Given the description of an element on the screen output the (x, y) to click on. 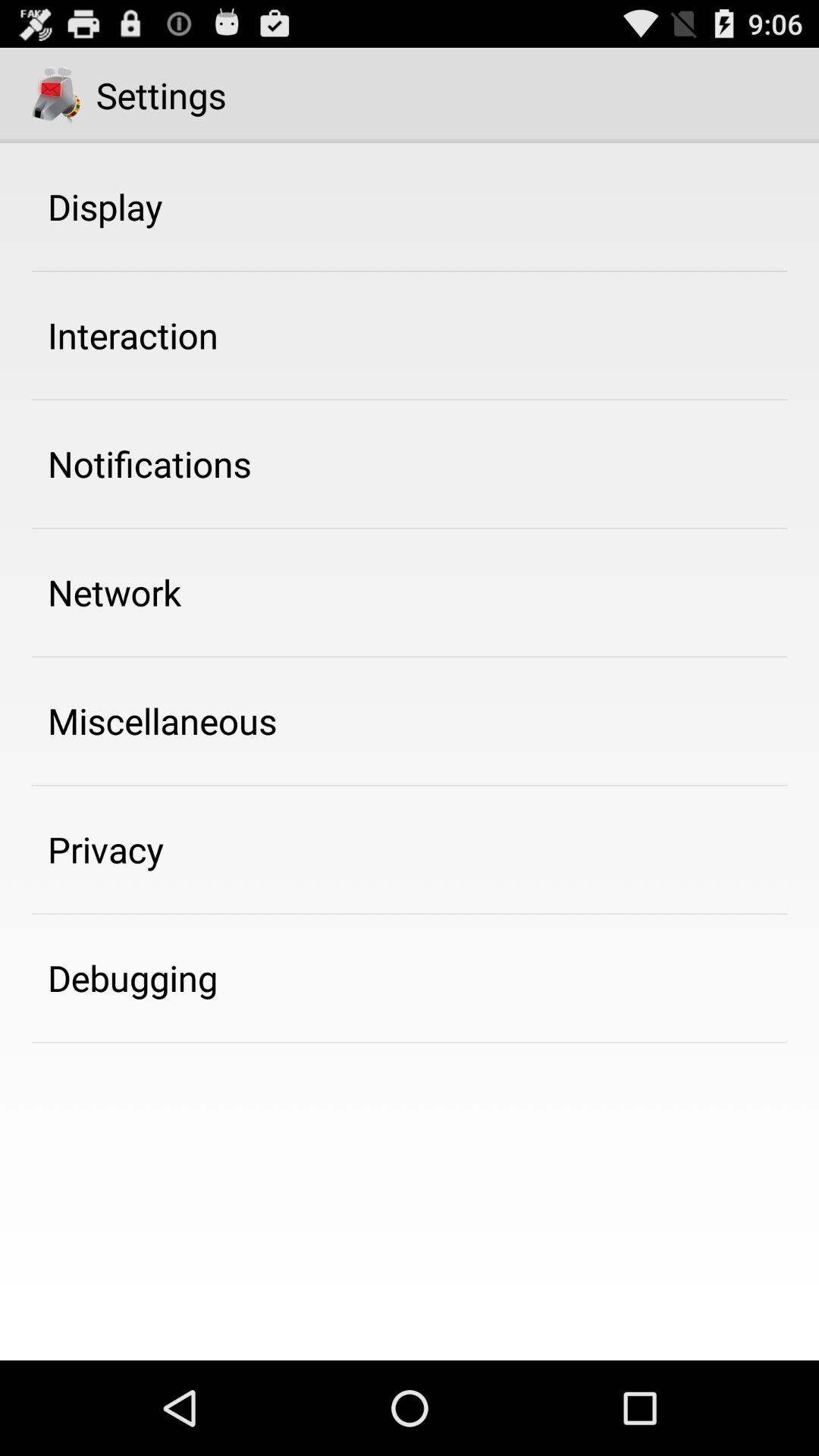
select the app below notifications icon (114, 592)
